Given the description of an element on the screen output the (x, y) to click on. 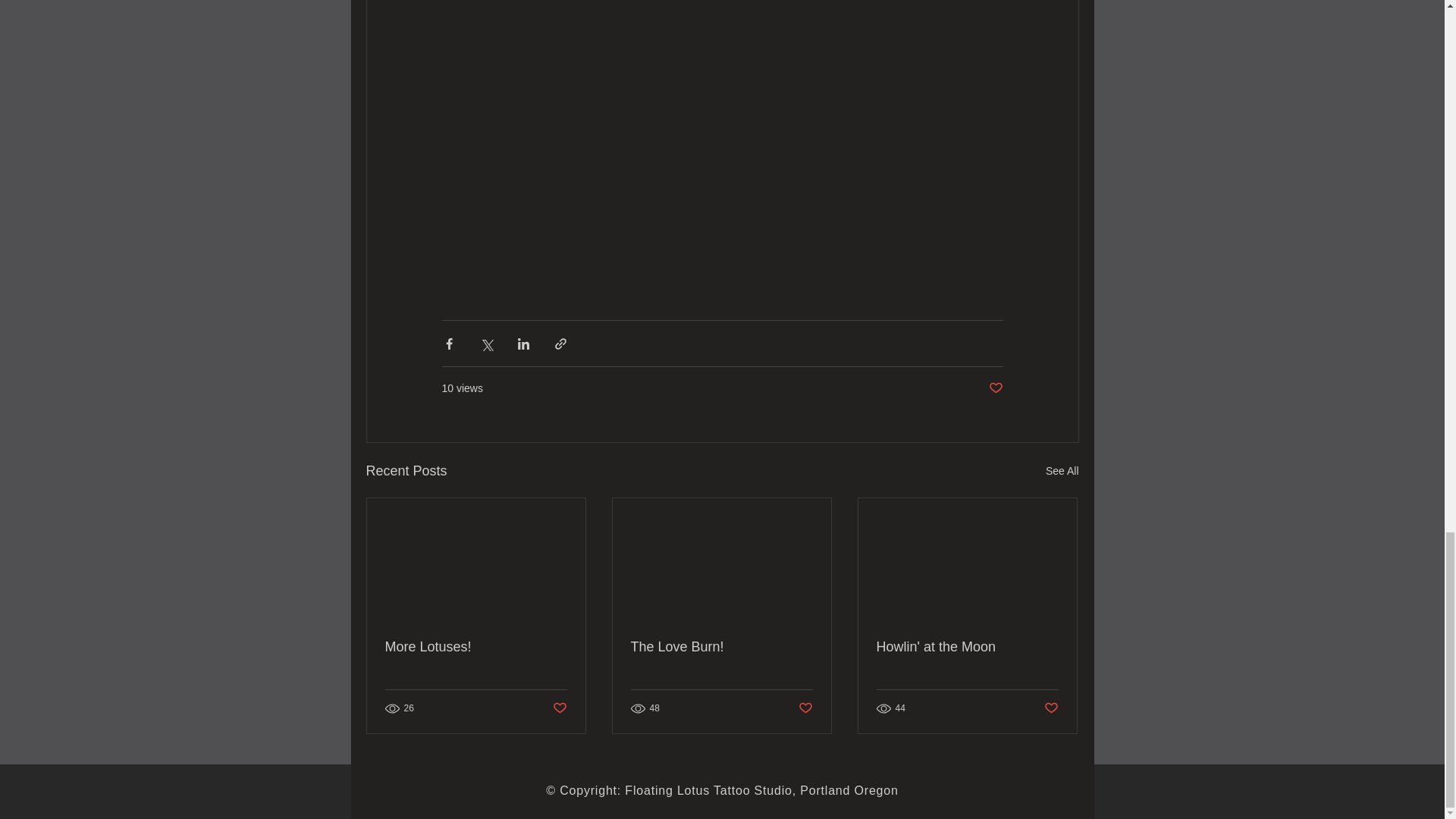
Howlin' at the Moon (967, 647)
The Love Burn! (721, 647)
See All (1061, 471)
Post not marked as liked (558, 708)
Post not marked as liked (804, 708)
Post not marked as liked (995, 388)
Post not marked as liked (1050, 708)
More Lotuses! (476, 647)
